Given the description of an element on the screen output the (x, y) to click on. 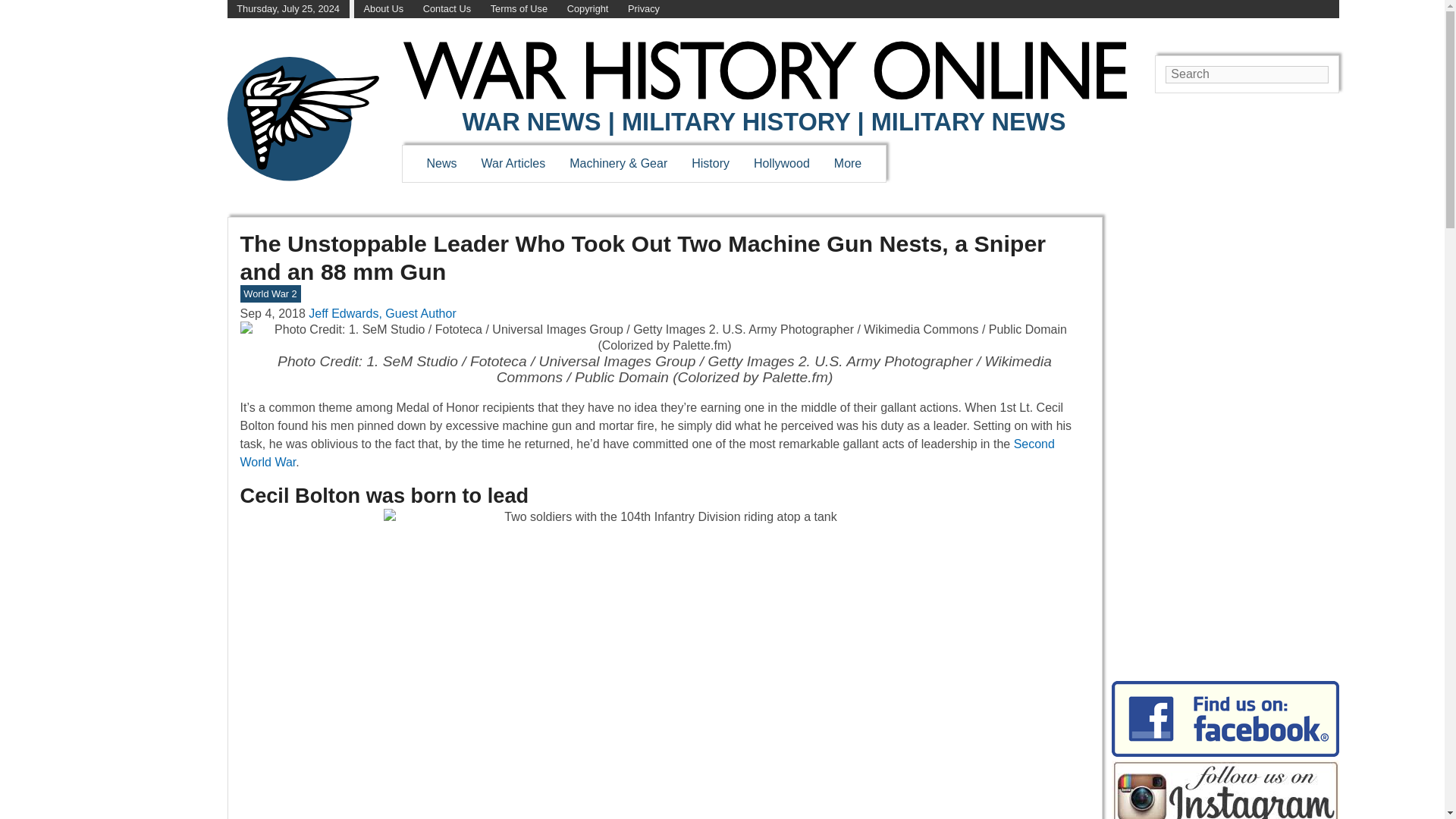
Hollywood (781, 163)
War Articles (513, 163)
Copyright (587, 8)
News (441, 163)
Terms of Use (518, 8)
Contact Us (446, 8)
Privacy (643, 8)
More (847, 163)
History (710, 163)
About Us (384, 8)
